Given the description of an element on the screen output the (x, y) to click on. 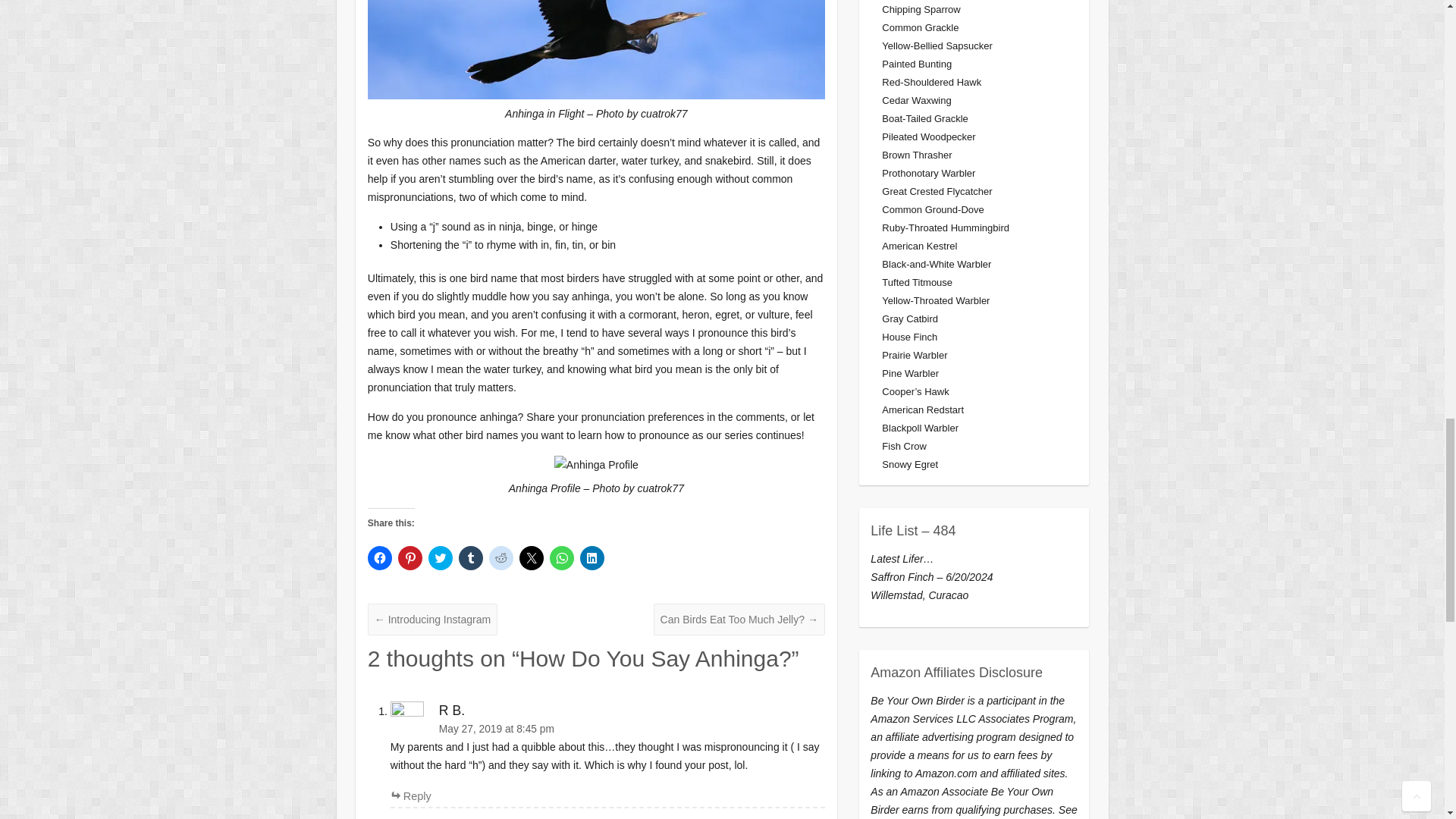
Click to share on WhatsApp (561, 558)
Click to share on Tumblr (470, 558)
May 27, 2019 at 8:45 pm (607, 728)
Click to share on LinkedIn (591, 558)
Click to share on Twitter (440, 558)
Click to share on X (531, 558)
Click to share on Reddit (501, 558)
Reply (410, 796)
Click to share on Facebook (379, 558)
Click to share on Pinterest (409, 558)
